Given the description of an element on the screen output the (x, y) to click on. 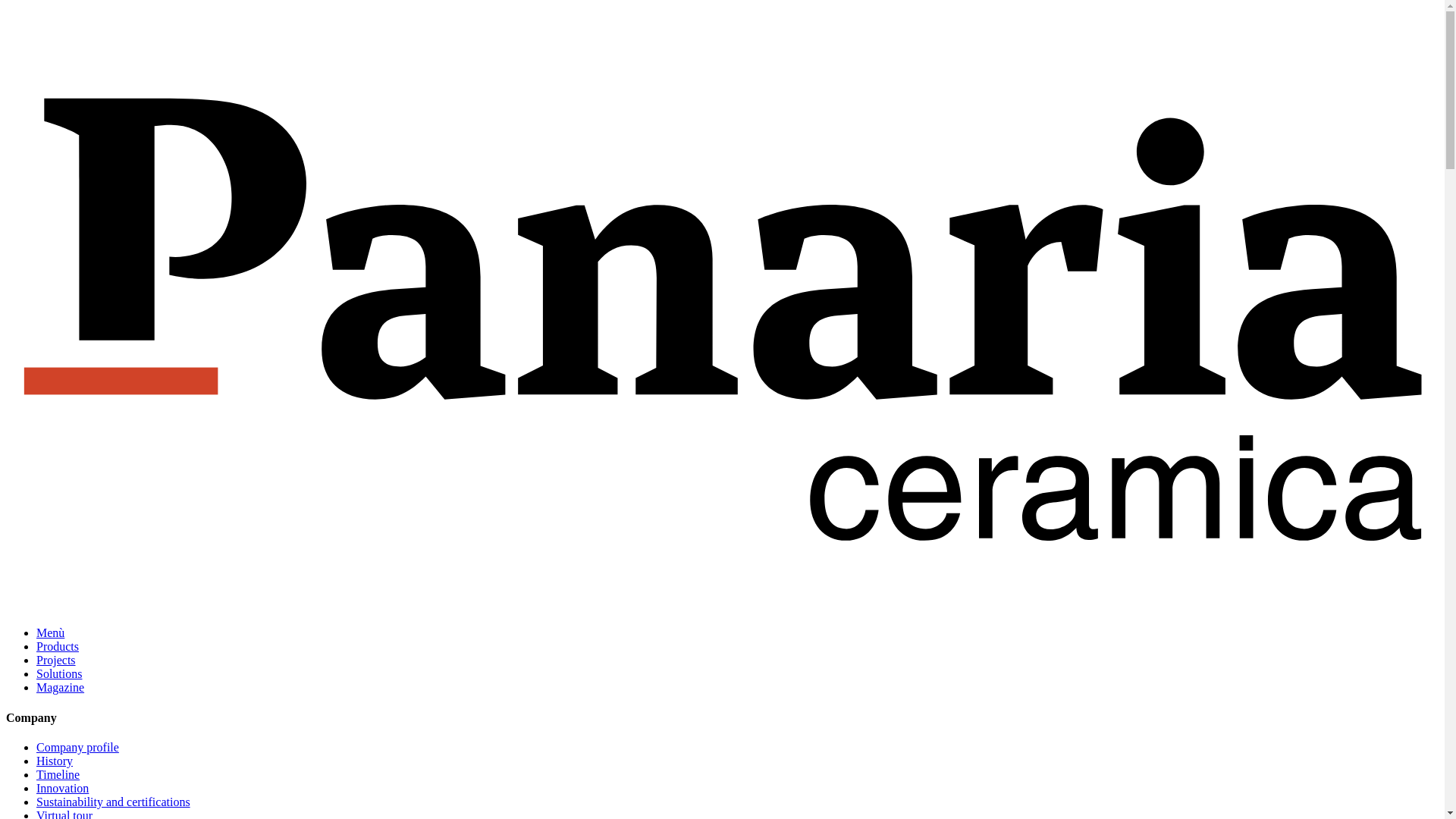
Magazine (60, 686)
Timeline (58, 774)
Products (57, 645)
Solutions (58, 673)
Sustainability and certifications (113, 801)
Projects (55, 659)
History (54, 760)
Virtual tour (64, 814)
Company profile (77, 747)
Innovation (62, 788)
